Given the description of an element on the screen output the (x, y) to click on. 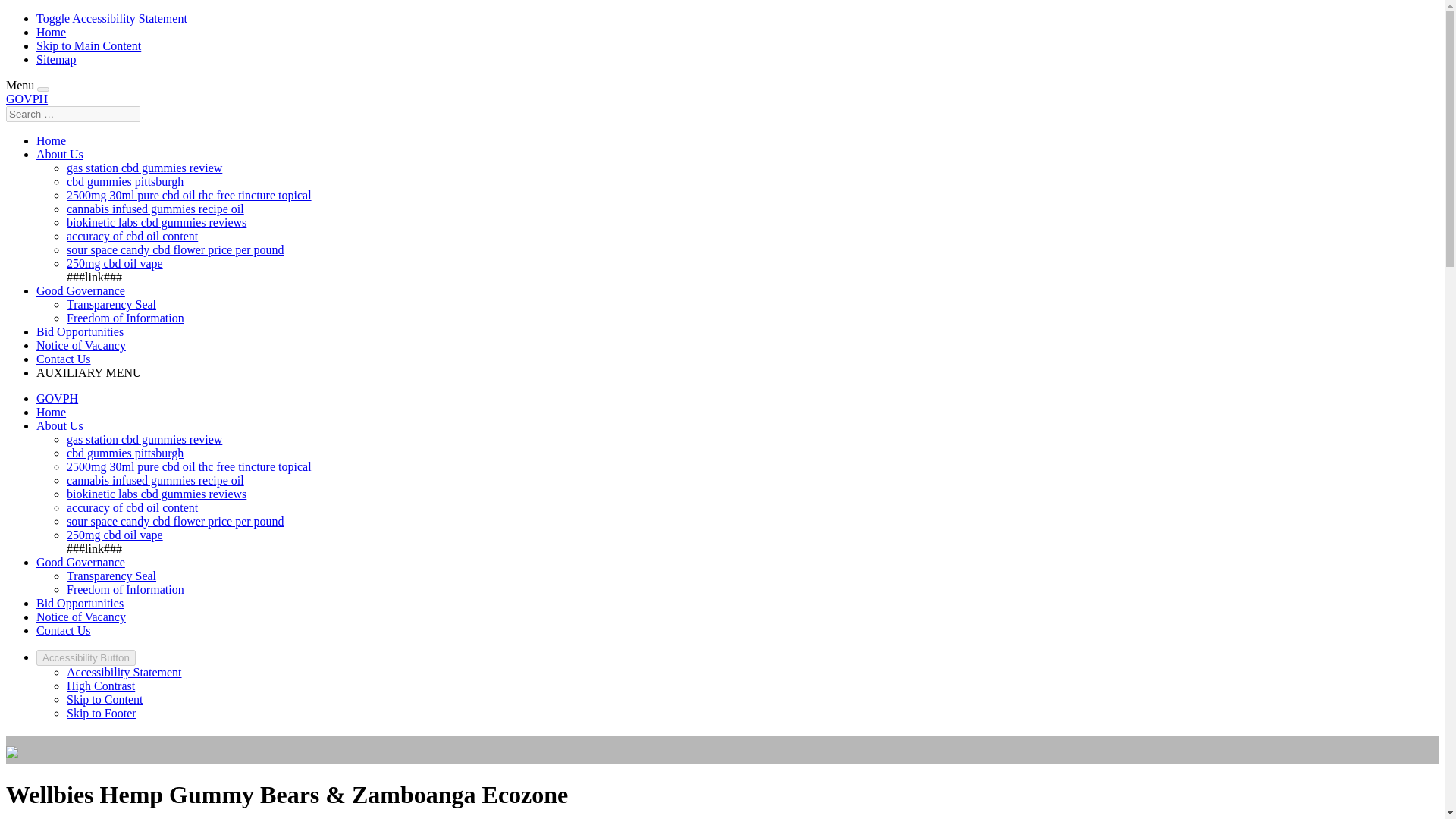
cannabis infused gummies recipe oil (155, 480)
Toggle Accessibility Statement (111, 18)
accuracy of cbd oil content (132, 236)
accuracy of cbd oil content (132, 507)
sour space candy cbd flower price per pound (174, 249)
Home (50, 31)
About Us (59, 154)
250mg cbd oil vape (114, 263)
GOVPH (57, 398)
Bid Opportunities (79, 331)
